Given the description of an element on the screen output the (x, y) to click on. 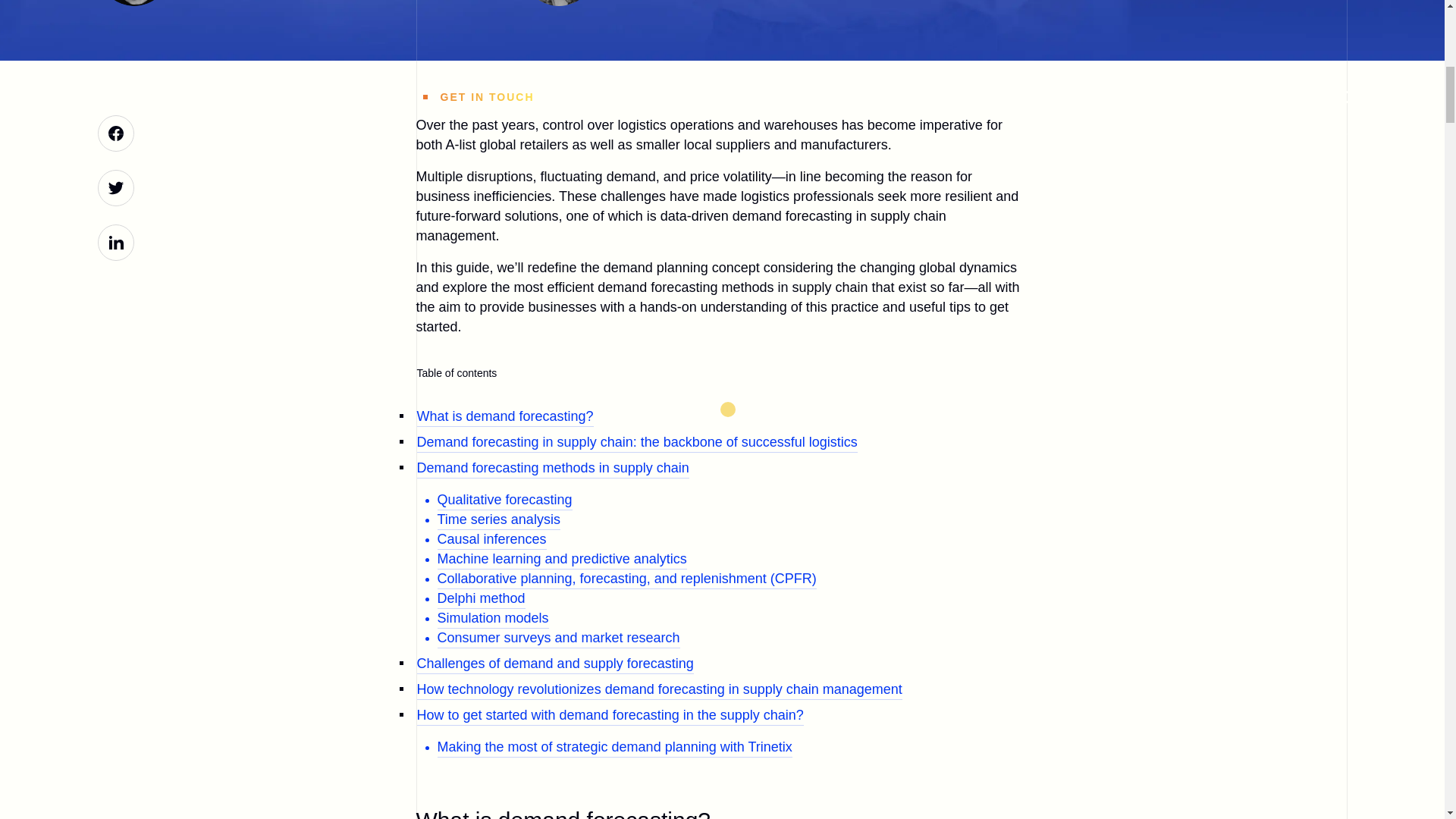
Machine learning and predictive analytics (560, 560)
Qualitative forecasting (504, 501)
Time series analysis (497, 520)
Causal inferences (491, 540)
Demand forecasting methods in supply chain (552, 469)
What is demand forecasting? (505, 417)
